Given the description of an element on the screen output the (x, y) to click on. 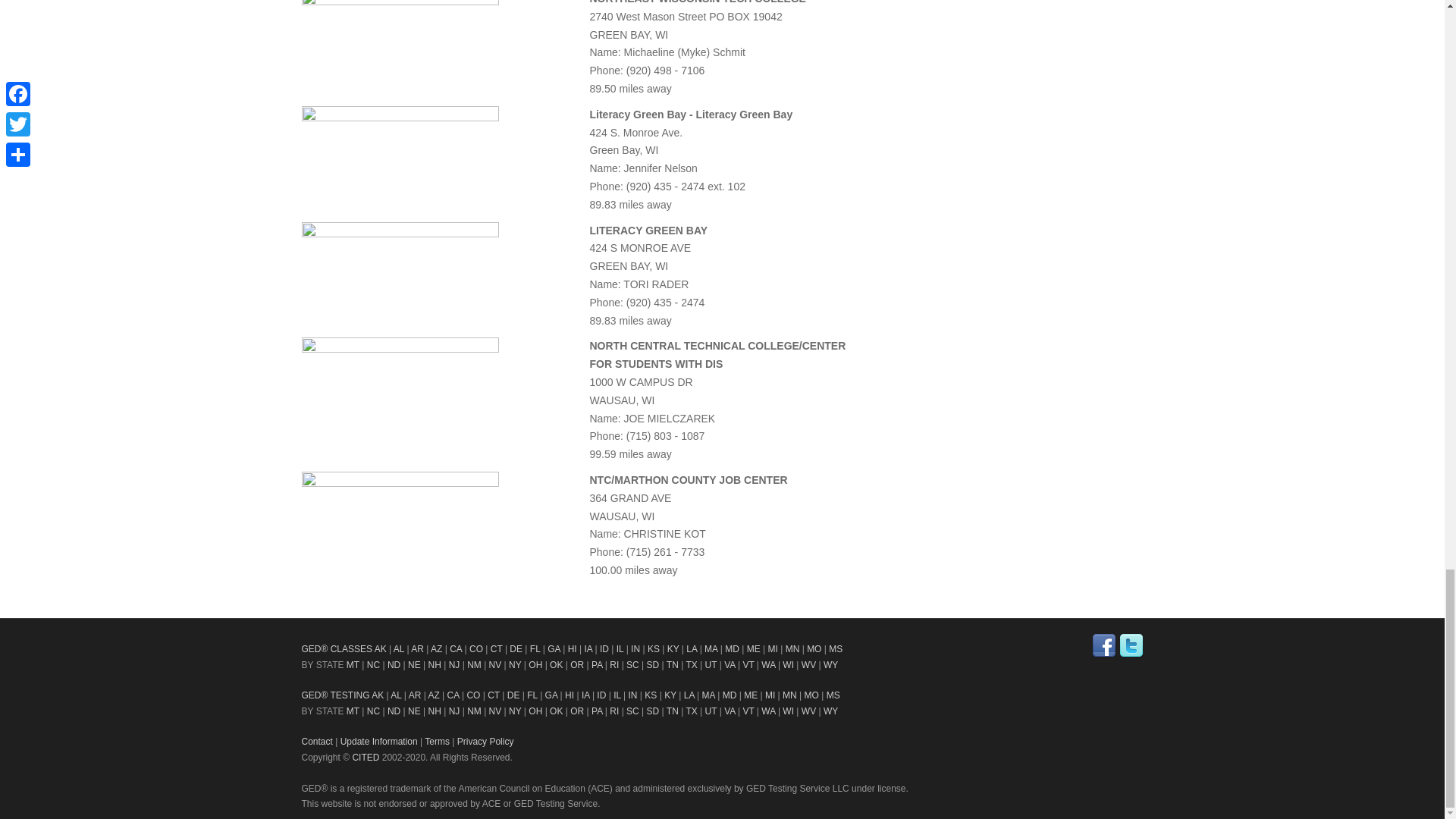
MT (352, 665)
KS (653, 648)
NE (413, 665)
AZ (436, 648)
NJ (454, 665)
DE (515, 648)
AR (416, 648)
Cited Facebook Page (1104, 645)
MD (732, 648)
GA (553, 648)
CT (496, 648)
MA (710, 648)
KY (672, 648)
FL (534, 648)
NC (373, 665)
